Given the description of an element on the screen output the (x, y) to click on. 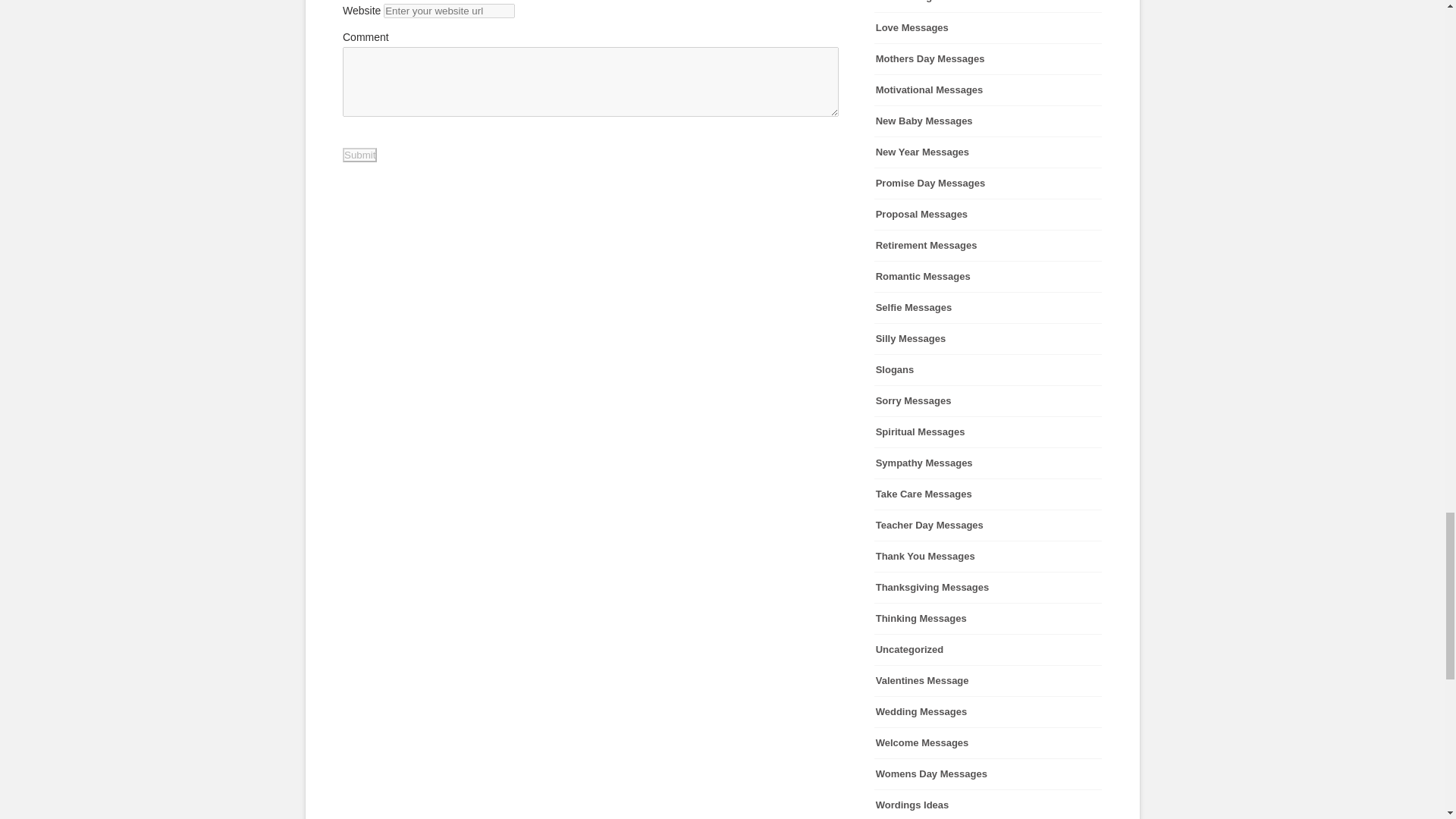
Submit (359, 155)
Submit (359, 155)
